Given the description of an element on the screen output the (x, y) to click on. 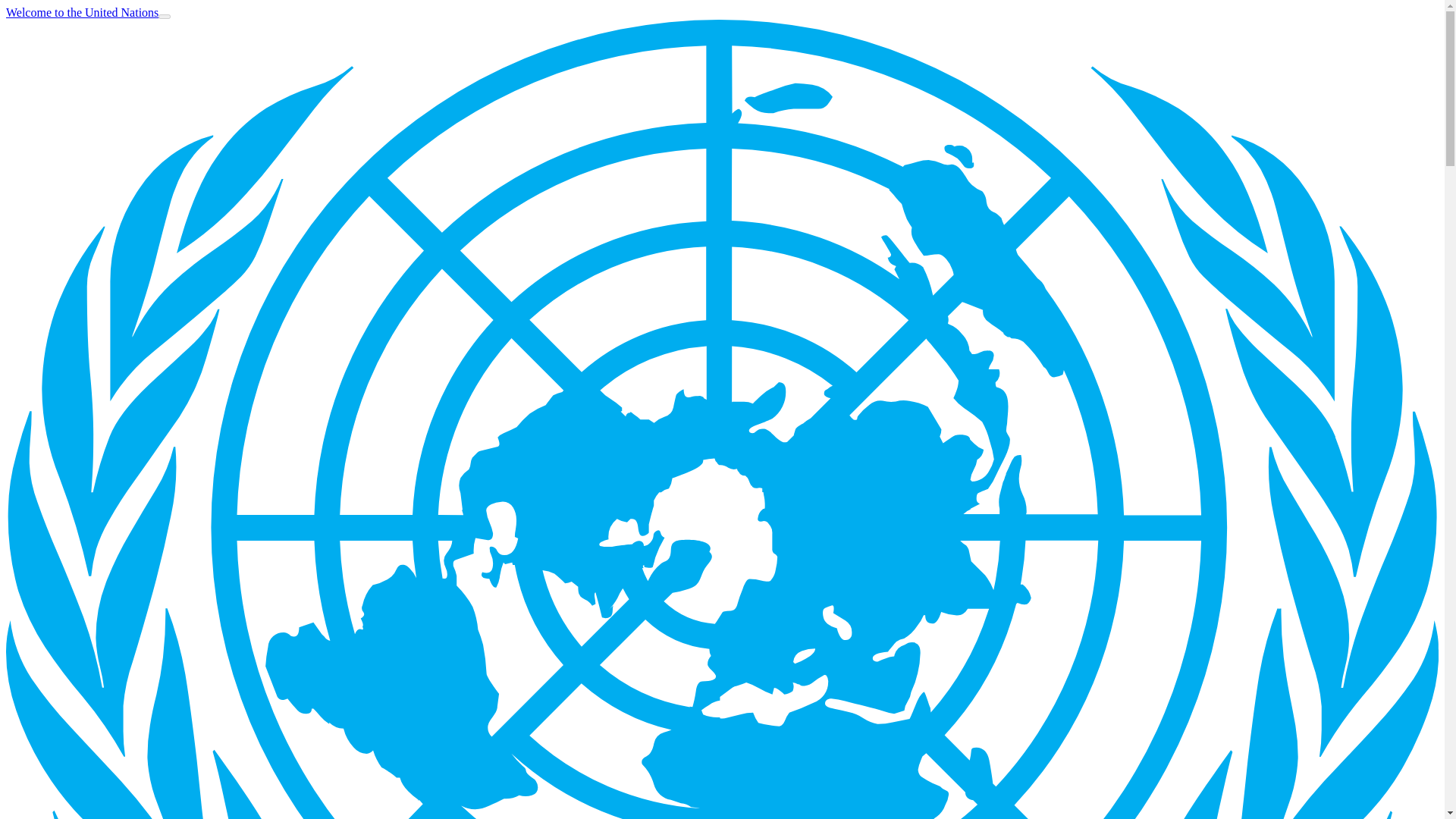
Welcome to the United Nations (81, 11)
